Given the description of an element on the screen output the (x, y) to click on. 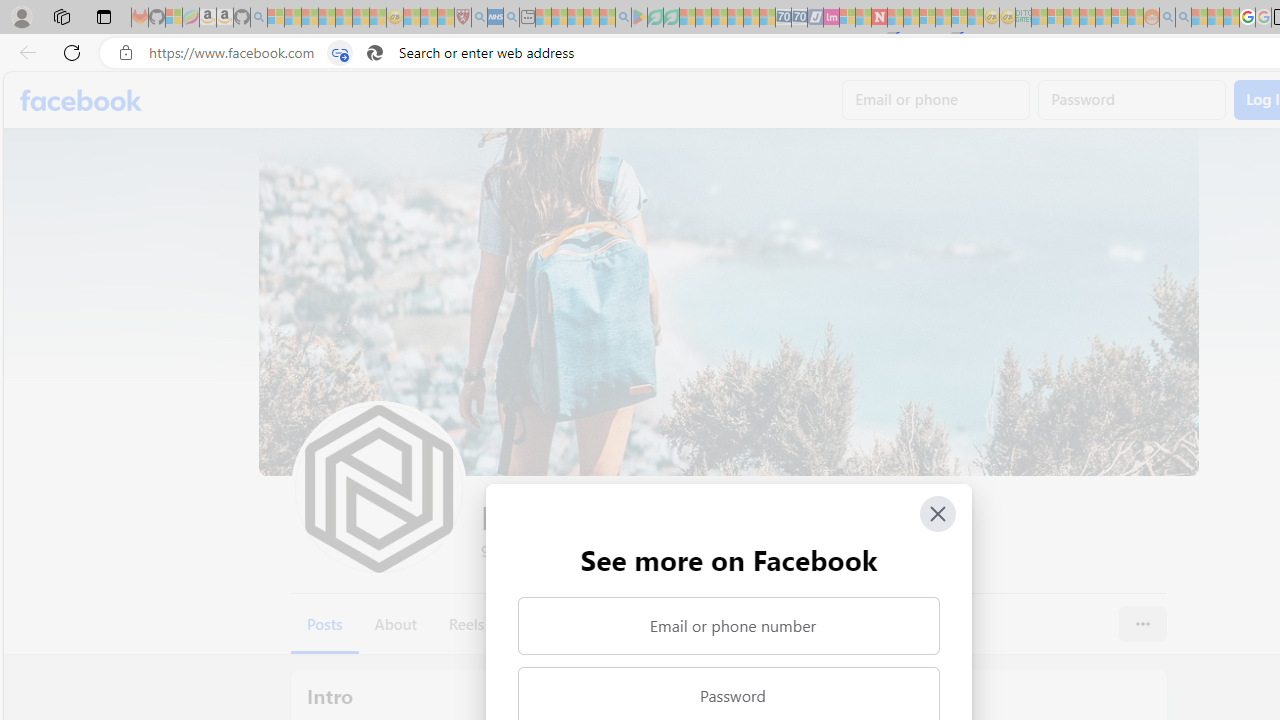
Cheap Hotels - Save70.com - Sleeping (799, 17)
google - Search - Sleeping (623, 17)
Facebook (81, 99)
MSNBC - MSN - Sleeping (1039, 17)
Recipes - MSN - Sleeping (411, 17)
Tabs in split screen (339, 53)
